Given the description of an element on the screen output the (x, y) to click on. 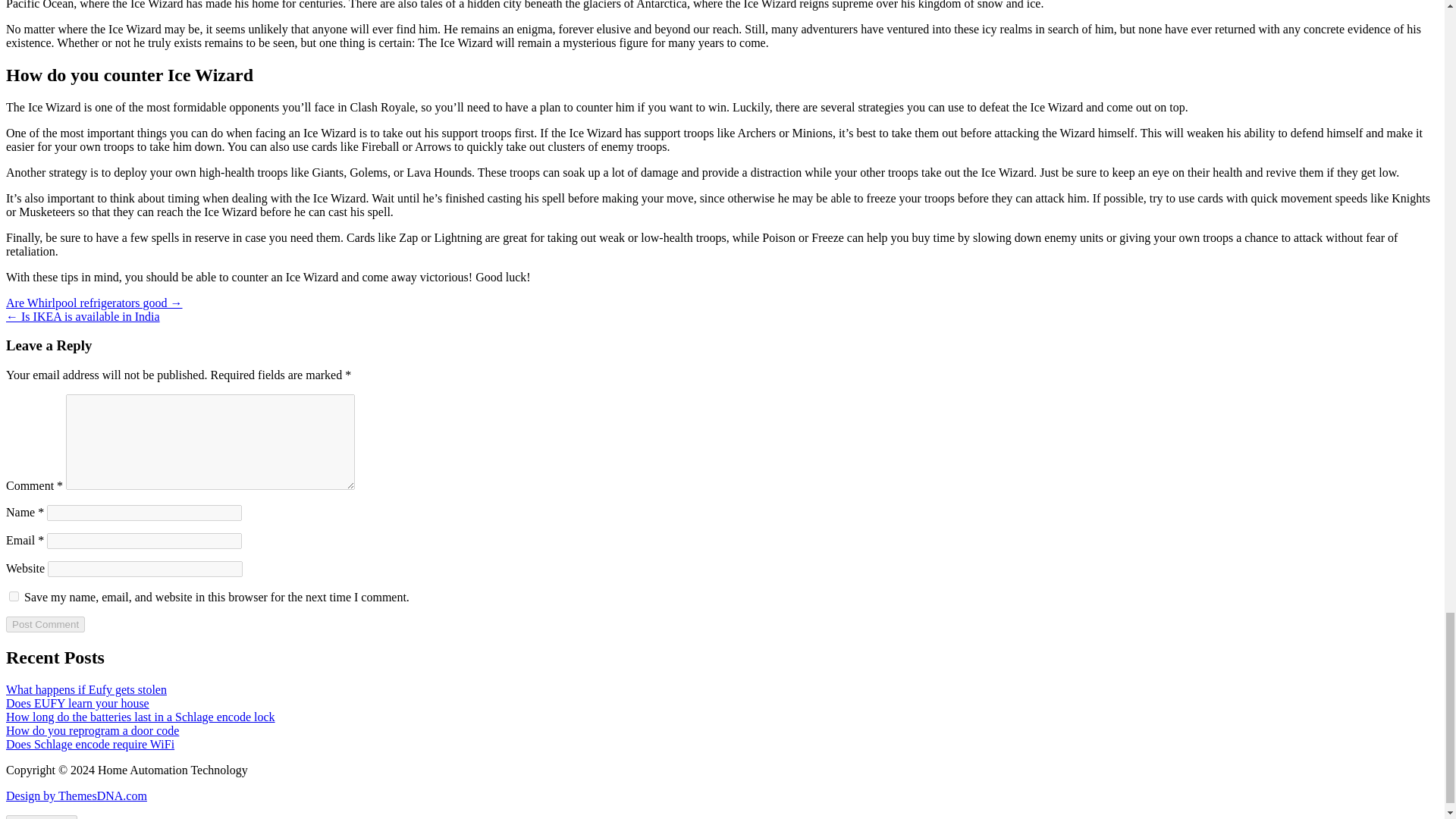
How do you reprogram a door code (92, 730)
Does EUFY learn your house (77, 703)
How long do the batteries last in a Schlage encode lock (140, 716)
yes (13, 596)
What happens if Eufy gets stolen (86, 689)
Does Schlage encode require WiFi (89, 744)
Post Comment (44, 624)
Design by ThemesDNA.com (76, 795)
Post Comment (44, 624)
